Given the description of an element on the screen output the (x, y) to click on. 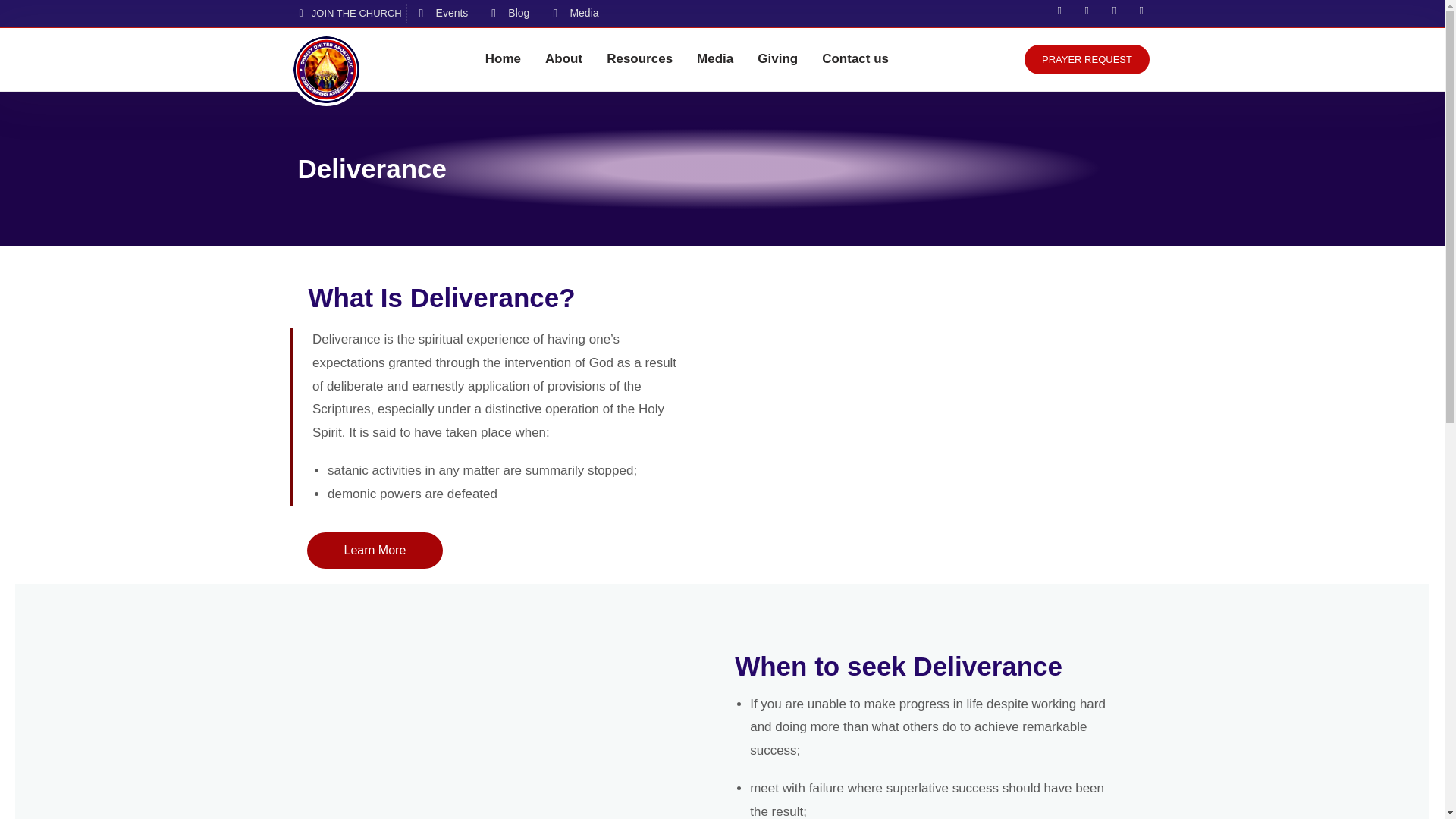
Blog (510, 13)
Events (443, 13)
JOIN THE CHURCH (347, 13)
Media (714, 58)
Media (575, 13)
Home (502, 58)
About (563, 58)
Resources (639, 58)
